Given the description of an element on the screen output the (x, y) to click on. 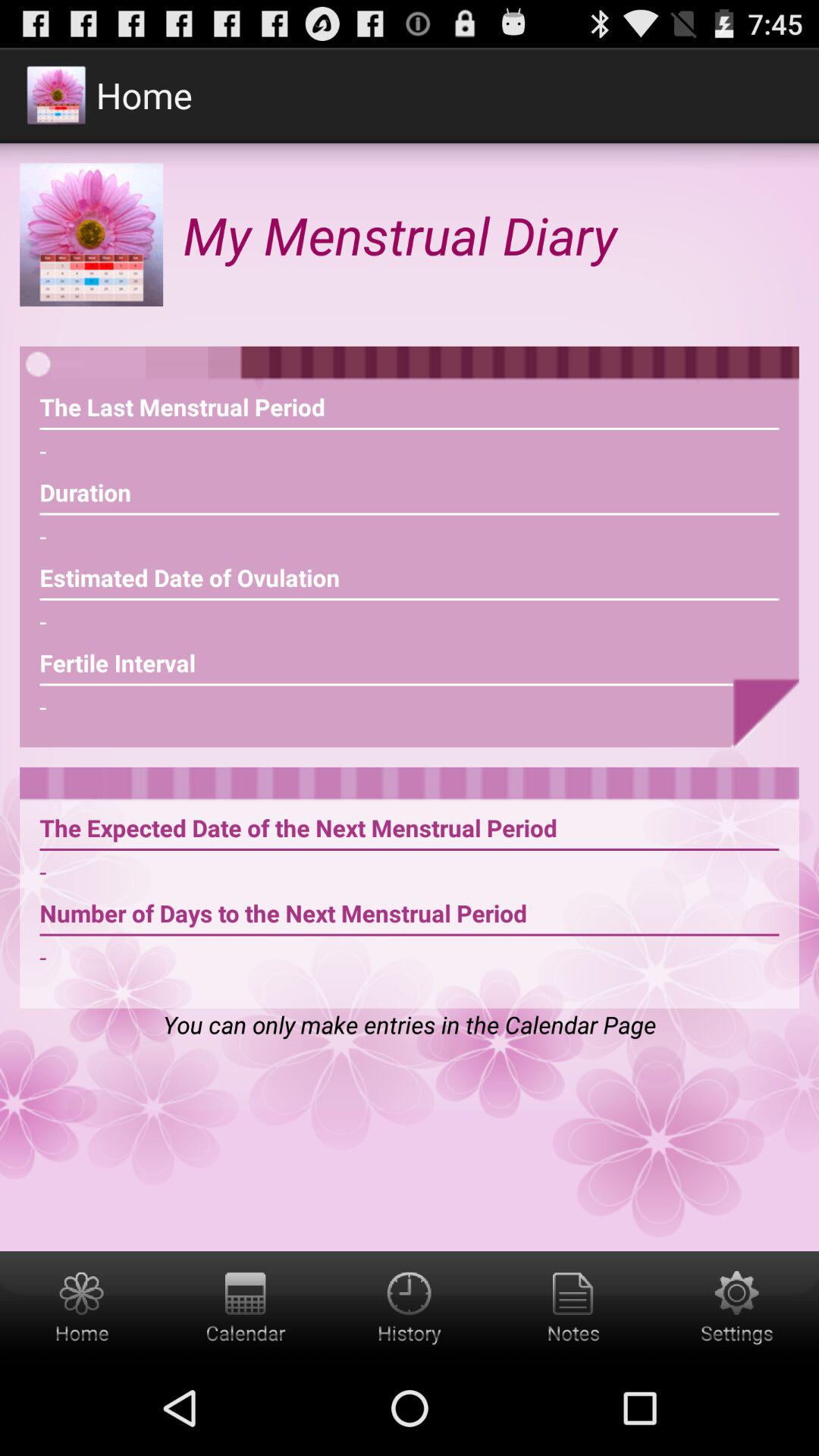
setting (737, 1305)
